Given the description of an element on the screen output the (x, y) to click on. 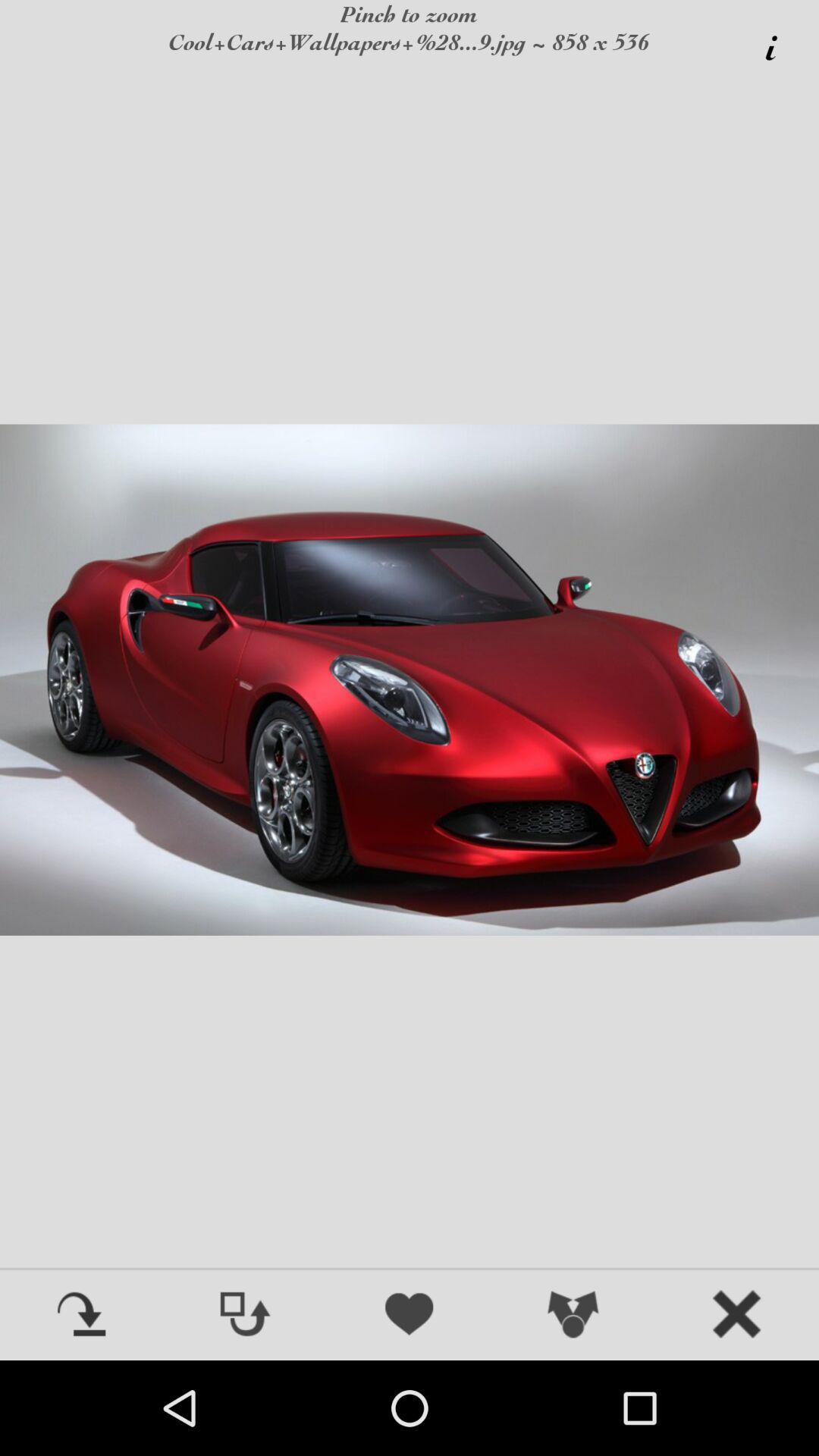
leave page (737, 1315)
